Given the description of an element on the screen output the (x, y) to click on. 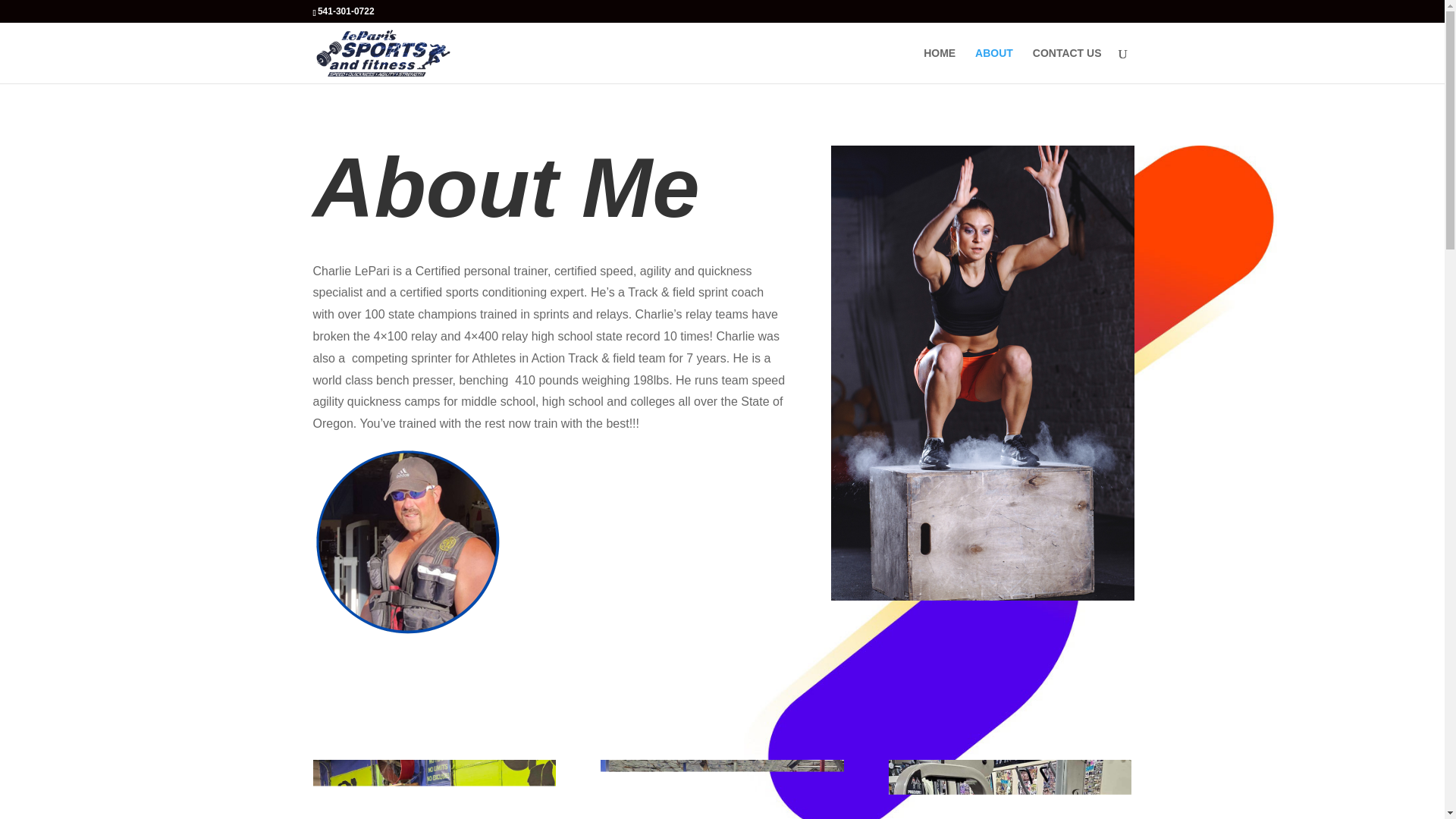
HOME (939, 65)
LePari's-Sports (721, 789)
Tough-gym (433, 789)
CONTACT US (1067, 65)
ABOUT (994, 65)
Bar-Dip (1009, 789)
